Given the description of an element on the screen output the (x, y) to click on. 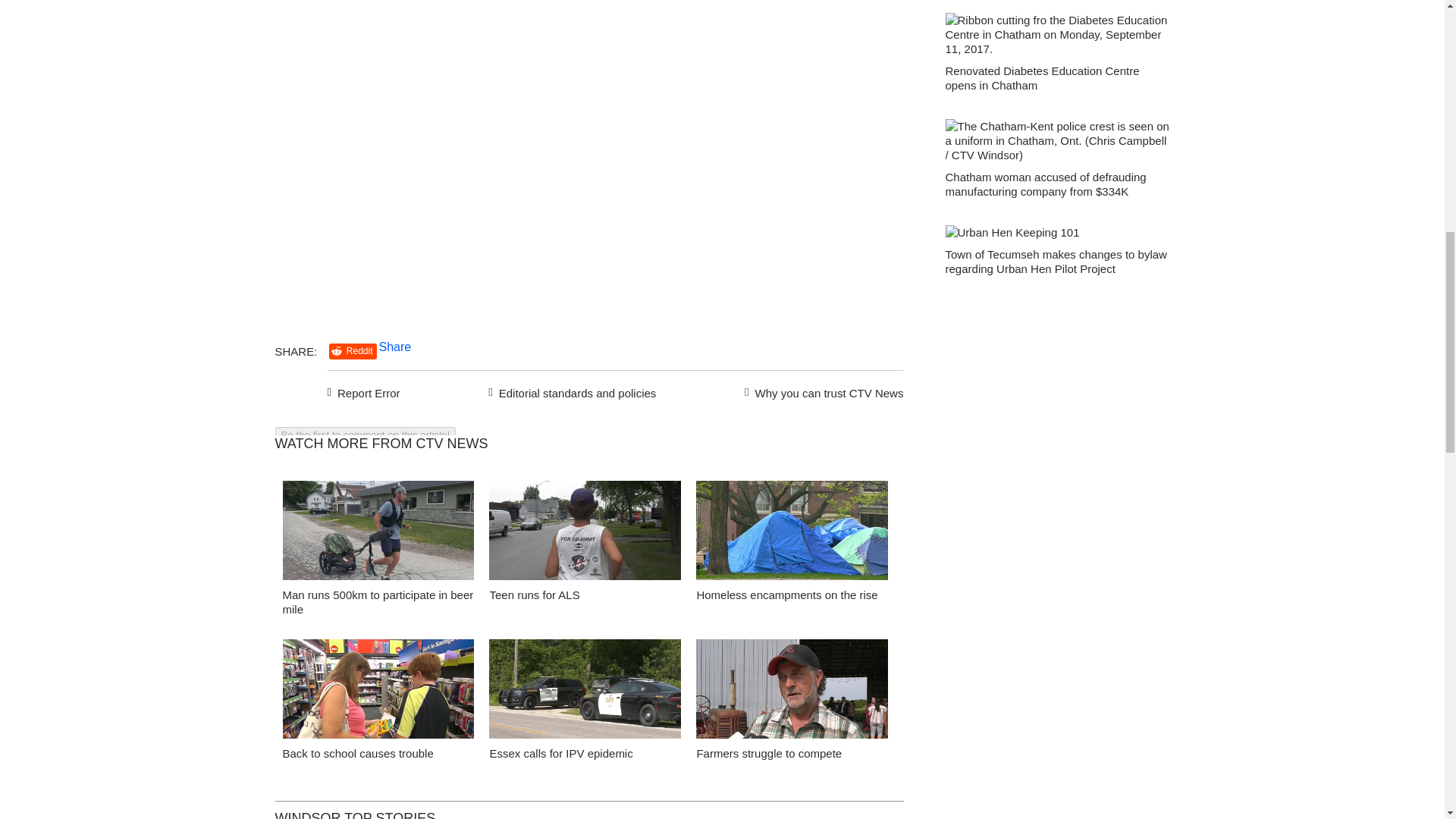
Teen runs for ALS (585, 534)
Back to school causes trouble (378, 692)
Farmers struggle to compete (768, 753)
Why you can trust CTV News (820, 391)
Share (395, 346)
false (378, 688)
Essex calls for IPV epidemic (560, 753)
Farmers struggle to compete (791, 692)
Homeless encampments on the rise (791, 534)
Man runs 500km to participate in beer mile (377, 601)
